Given the description of an element on the screen output the (x, y) to click on. 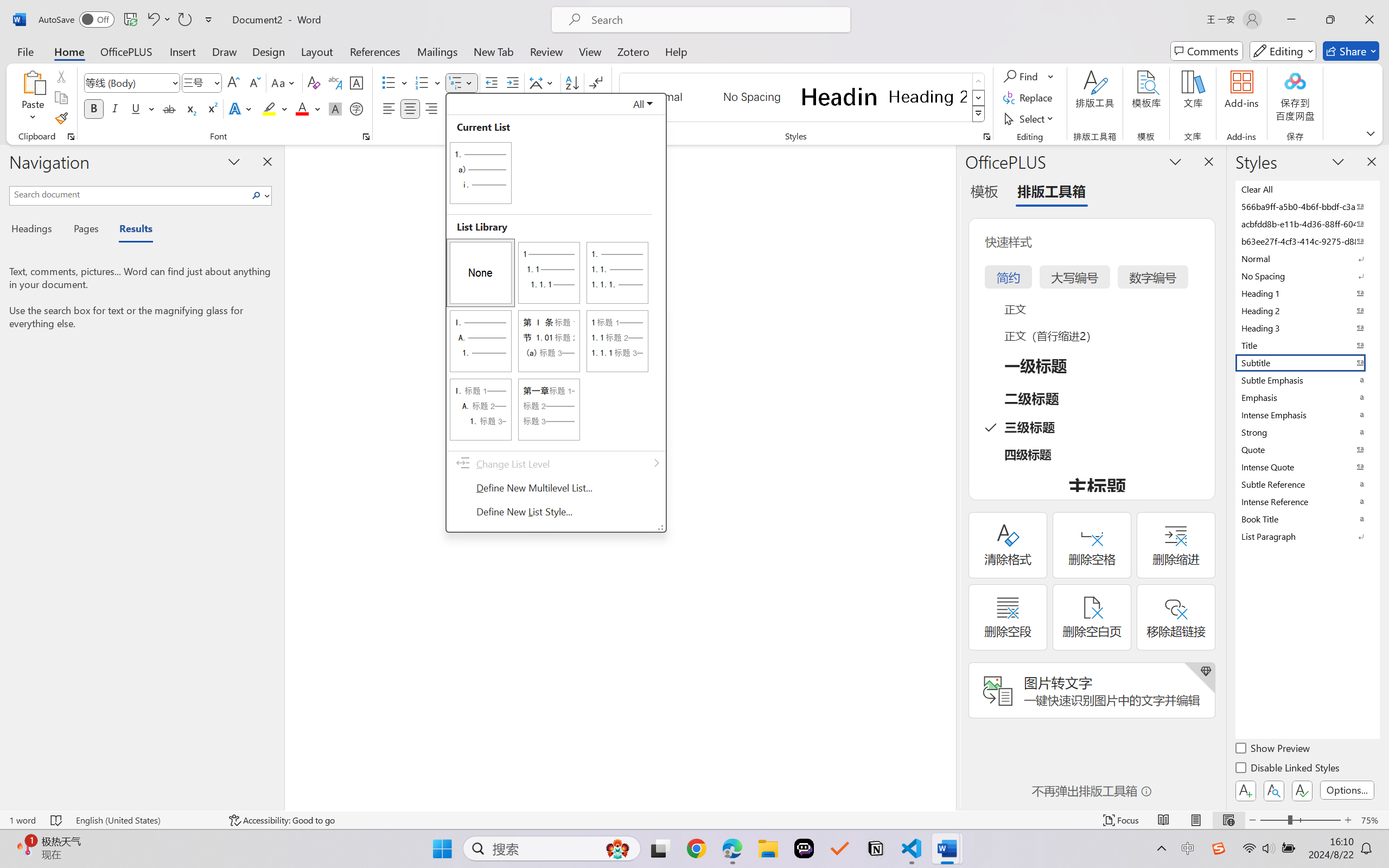
Emphasis (1306, 397)
Notion (875, 848)
Decrease Indent (491, 82)
Draw (224, 51)
Disable Linked Styles (1287, 769)
Read Mode (1163, 819)
Print Layout (1196, 819)
View (589, 51)
